Given the description of an element on the screen output the (x, y) to click on. 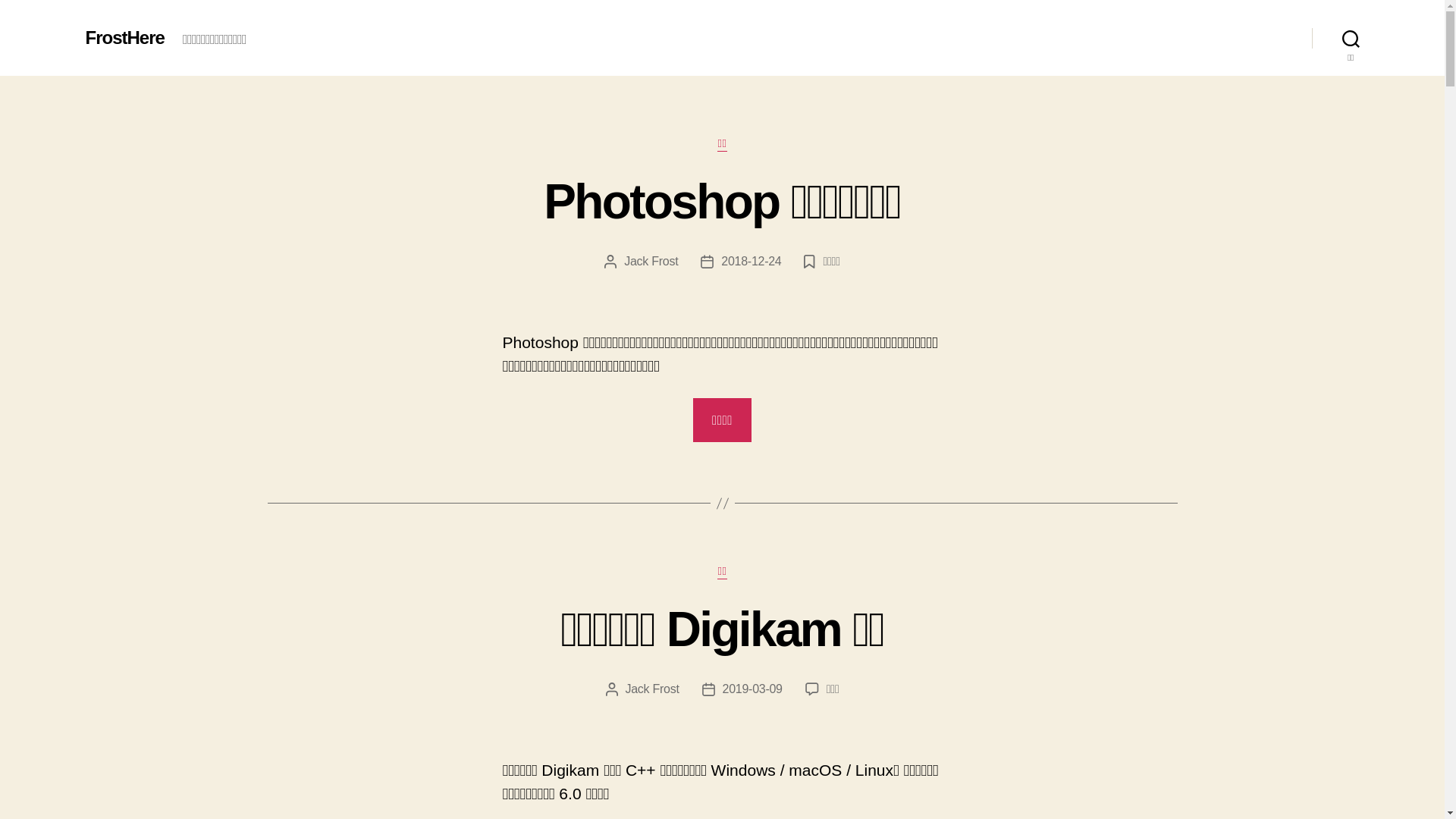
2018-12-24 Element type: text (751, 260)
Jack Frost Element type: text (651, 688)
2019-03-09 Element type: text (752, 688)
Jack Frost Element type: text (650, 260)
FrostHere Element type: text (123, 37)
